Given the description of an element on the screen output the (x, y) to click on. 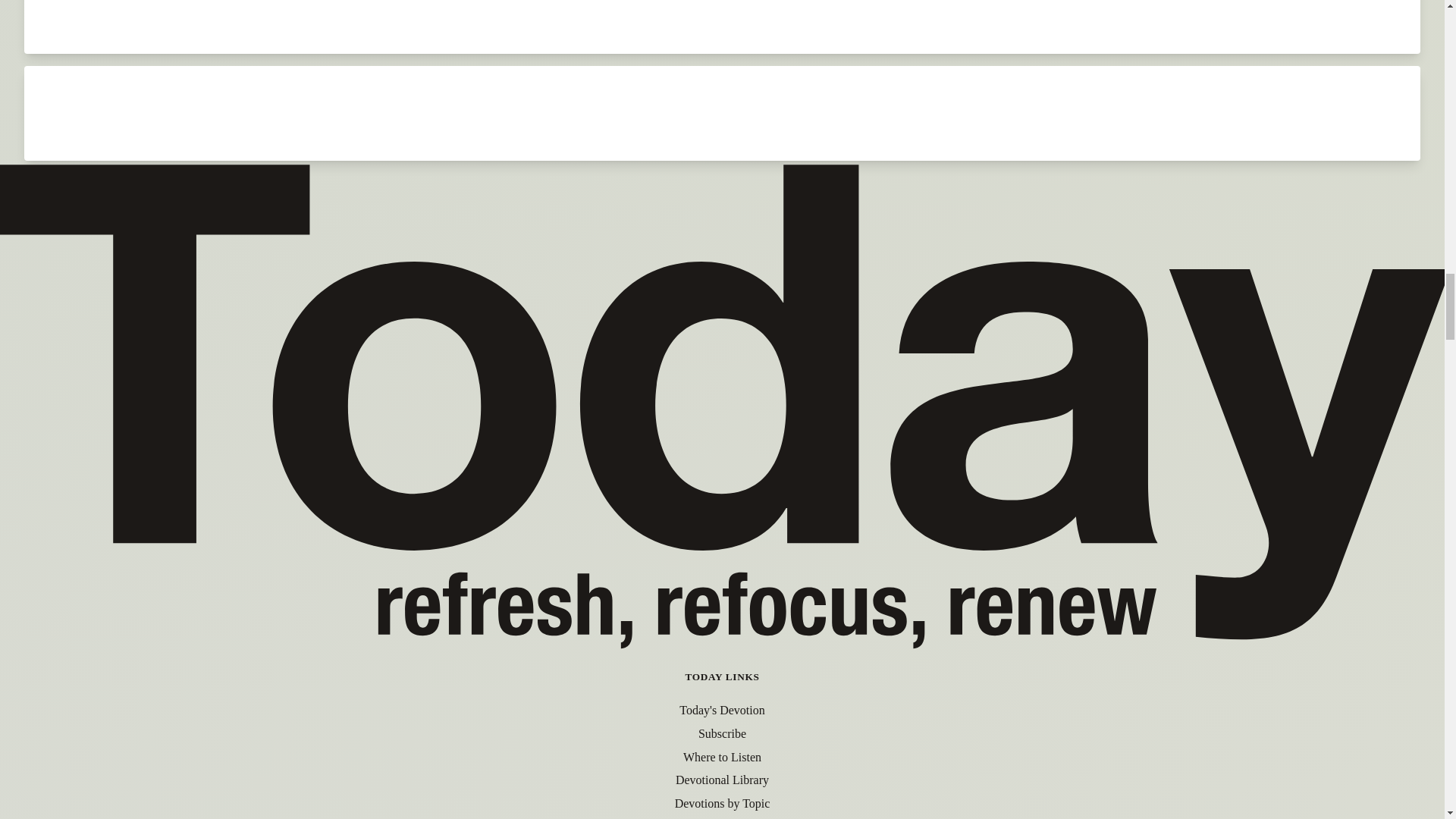
Devotional Library (721, 779)
Where to Listen (721, 757)
Today's Devotion (721, 709)
Subscribe (721, 733)
Devotions by Topic (722, 802)
